Given the description of an element on the screen output the (x, y) to click on. 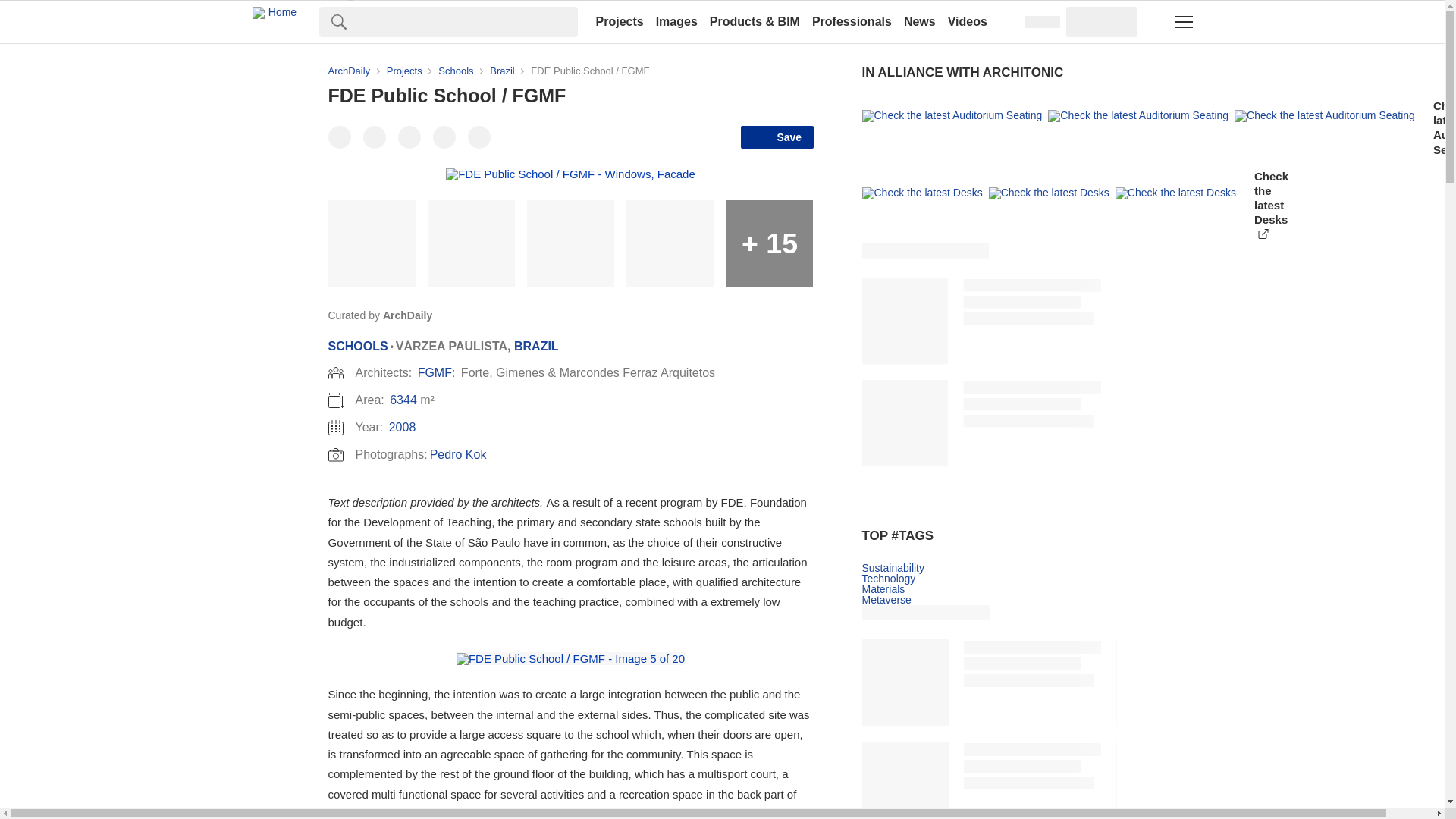
Professionals (852, 21)
Images (676, 21)
Videos (967, 21)
News (920, 21)
Projects (619, 21)
